Given the description of an element on the screen output the (x, y) to click on. 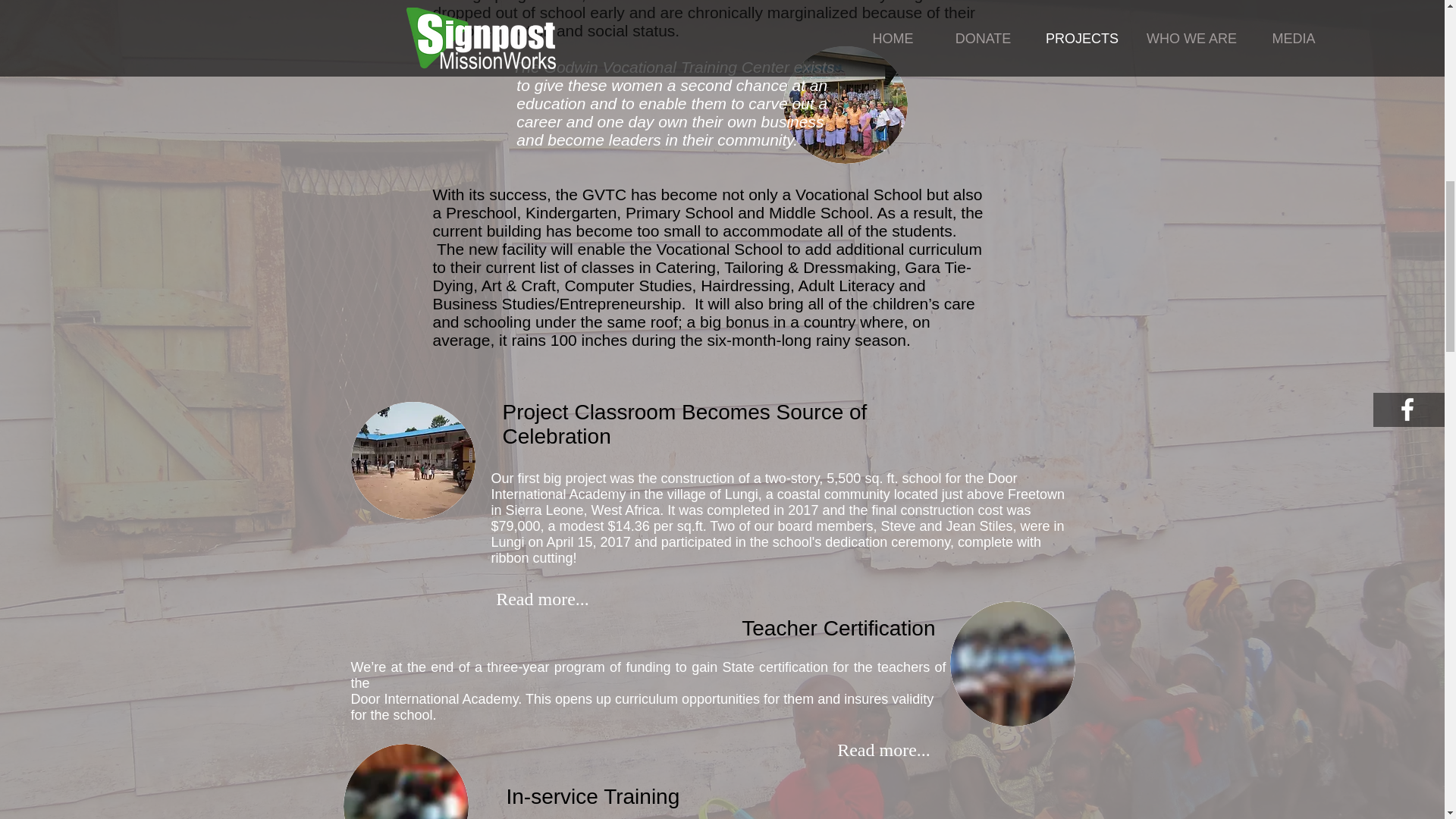
With its success, the GVTC (529, 194)
Teachers certification 2.jpg (1011, 663)
Jean teaching.jpg (404, 781)
Read more... (884, 750)
Read more... (543, 599)
